Given the description of an element on the screen output the (x, y) to click on. 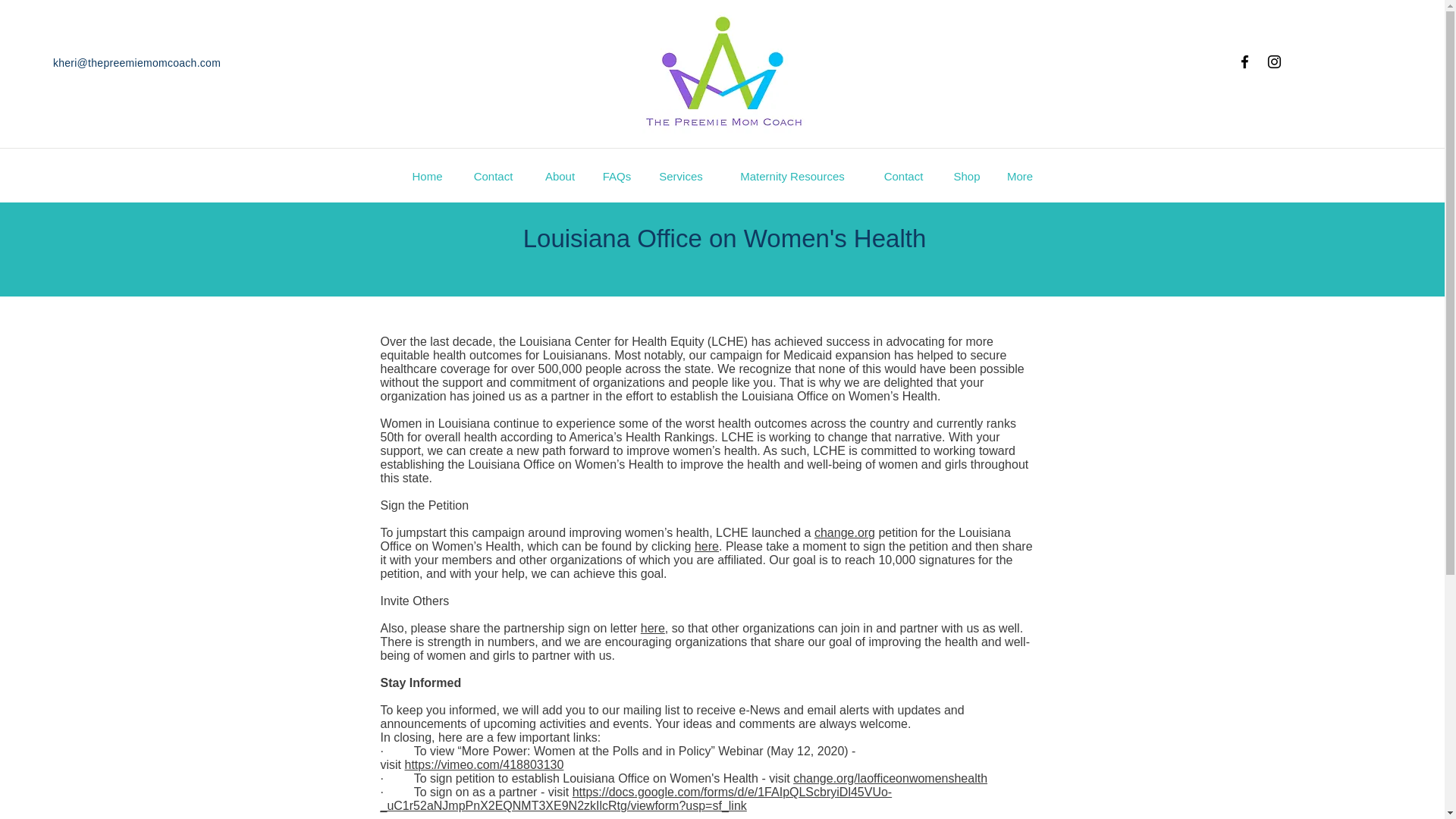
change.org (844, 532)
Home (427, 176)
Contact (493, 176)
here (706, 545)
Contact (903, 176)
FAQs (616, 176)
About (559, 176)
here (652, 627)
Maternity Resources (791, 176)
Services (680, 176)
Shop (966, 176)
